Given the description of an element on the screen output the (x, y) to click on. 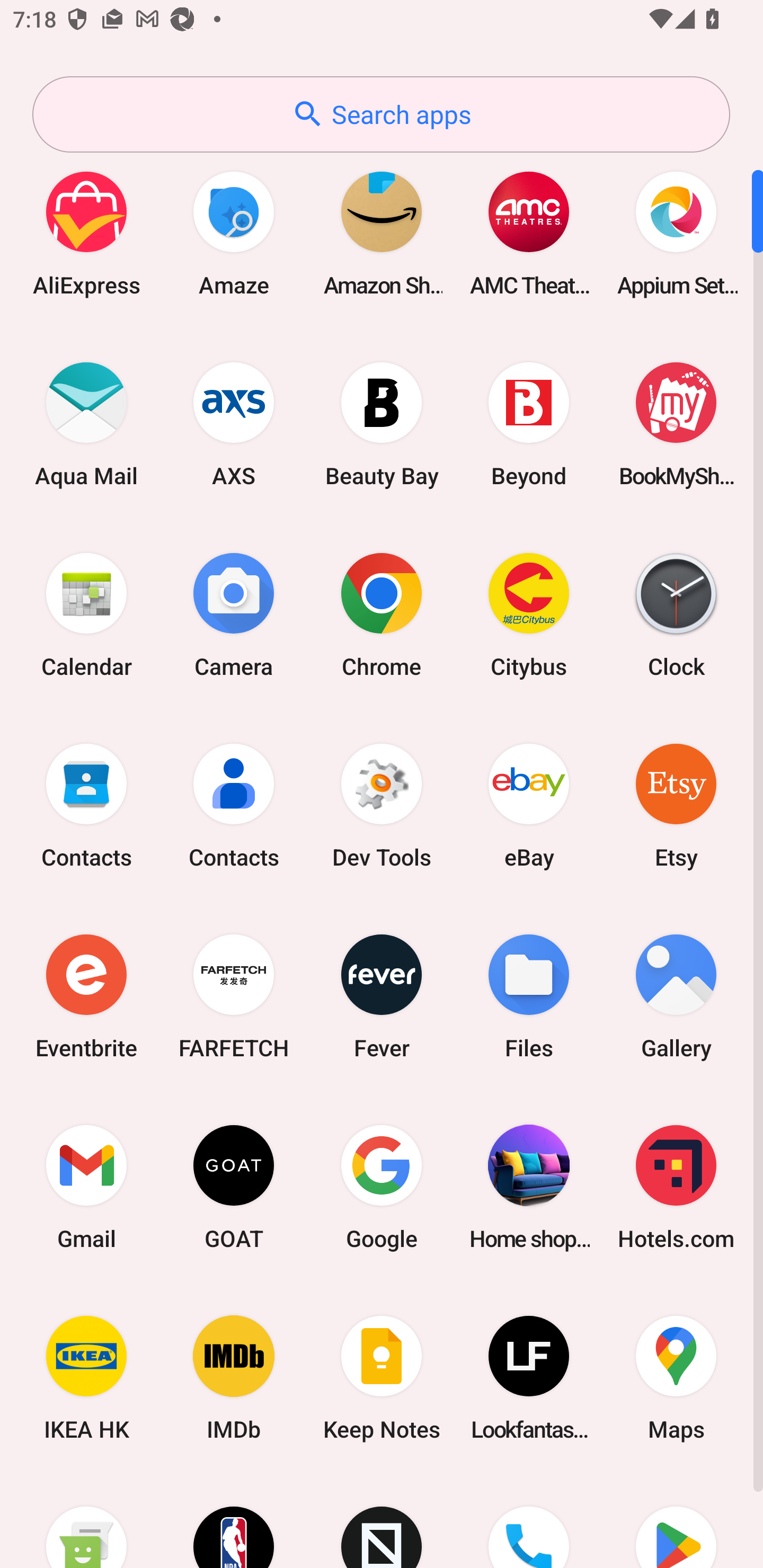
  Search apps (381, 114)
AliExpress (86, 233)
Amaze (233, 233)
Amazon Shopping (381, 233)
AMC Theatres (528, 233)
Appium Settings (676, 233)
Aqua Mail (86, 424)
AXS (233, 424)
Beauty Bay (381, 424)
Beyond (528, 424)
BookMyShow (676, 424)
Calendar (86, 614)
Camera (233, 614)
Chrome (381, 614)
Citybus (528, 614)
Clock (676, 614)
Contacts (86, 805)
Contacts (233, 805)
Dev Tools (381, 805)
eBay (528, 805)
Etsy (676, 805)
Eventbrite (86, 996)
FARFETCH (233, 996)
Fever (381, 996)
Files (528, 996)
Gallery (676, 996)
Gmail (86, 1186)
GOAT (233, 1186)
Google (381, 1186)
Home shopping (528, 1186)
Hotels.com (676, 1186)
IKEA HK (86, 1377)
IMDb (233, 1377)
Keep Notes (381, 1377)
Lookfantastic (528, 1377)
Maps (676, 1377)
Messaging (86, 1520)
NBA (233, 1520)
Novelship (381, 1520)
Phone (528, 1520)
Play Store (676, 1520)
